Given the description of an element on the screen output the (x, y) to click on. 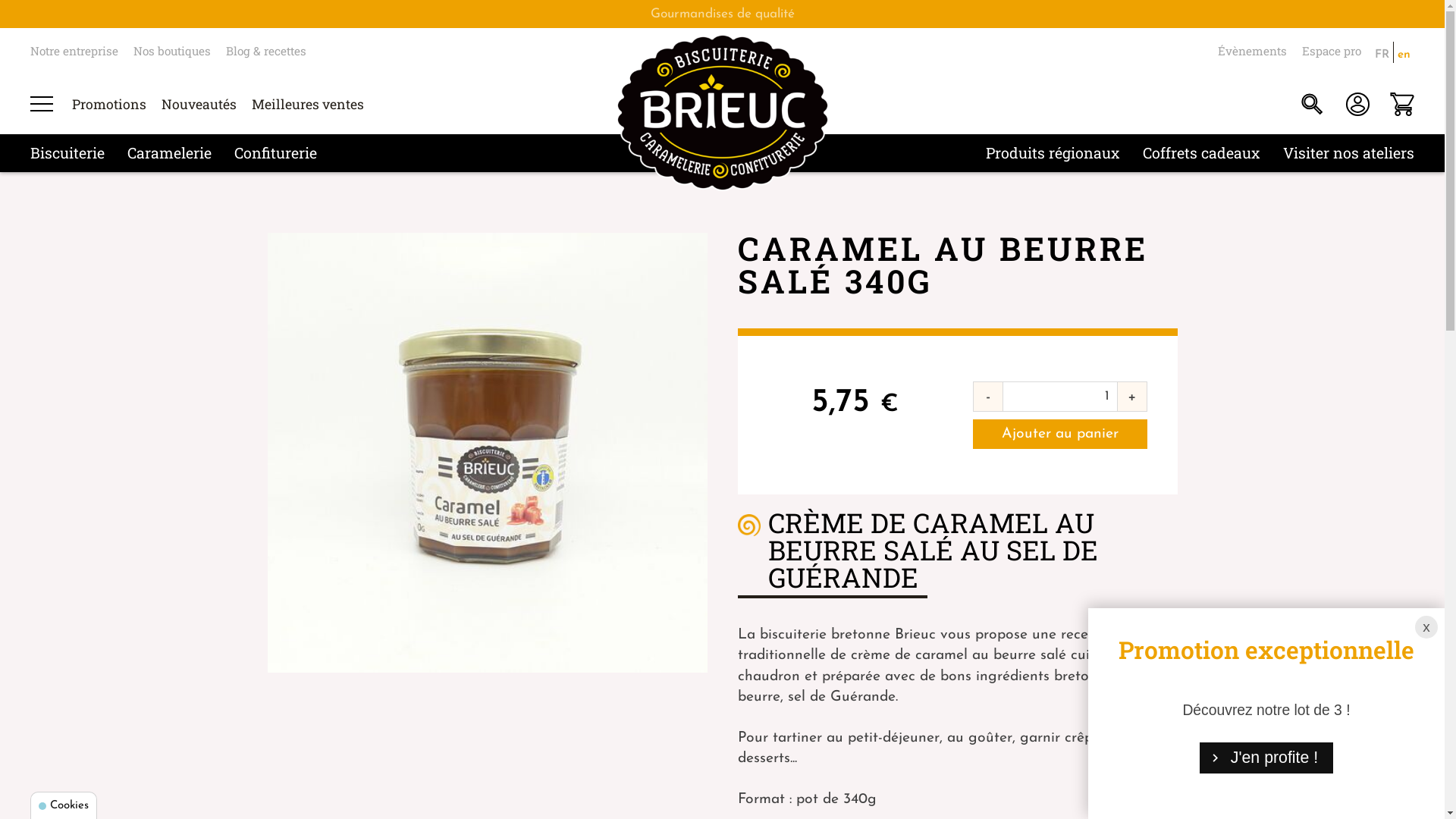
Promotions Element type: text (109, 104)
- Element type: text (987, 396)
Espace pro Element type: text (1331, 50)
Biscuiterie Brieuc Element type: hover (721, 112)
x Element type: text (1426, 626)
Visiter nos ateliers Element type: text (1348, 152)
Blog & recettes Element type: text (265, 50)
Espace client Element type: hover (1357, 103)
Coffrets cadeaux Element type: text (1201, 152)
Ajouter au panier Element type: text (1059, 433)
Meilleures ventes Element type: text (307, 104)
Nos boutiques Element type: text (171, 50)
Confiturerie Element type: text (275, 152)
Caramelerie Element type: text (169, 152)
Biscuiterie Element type: text (67, 152)
Panier Element type: hover (1402, 103)
J'en profite ! Element type: text (1266, 757)
Notre entreprise Element type: text (74, 50)
en Element type: text (1403, 51)
+ Element type: text (1131, 396)
